Given the description of an element on the screen output the (x, y) to click on. 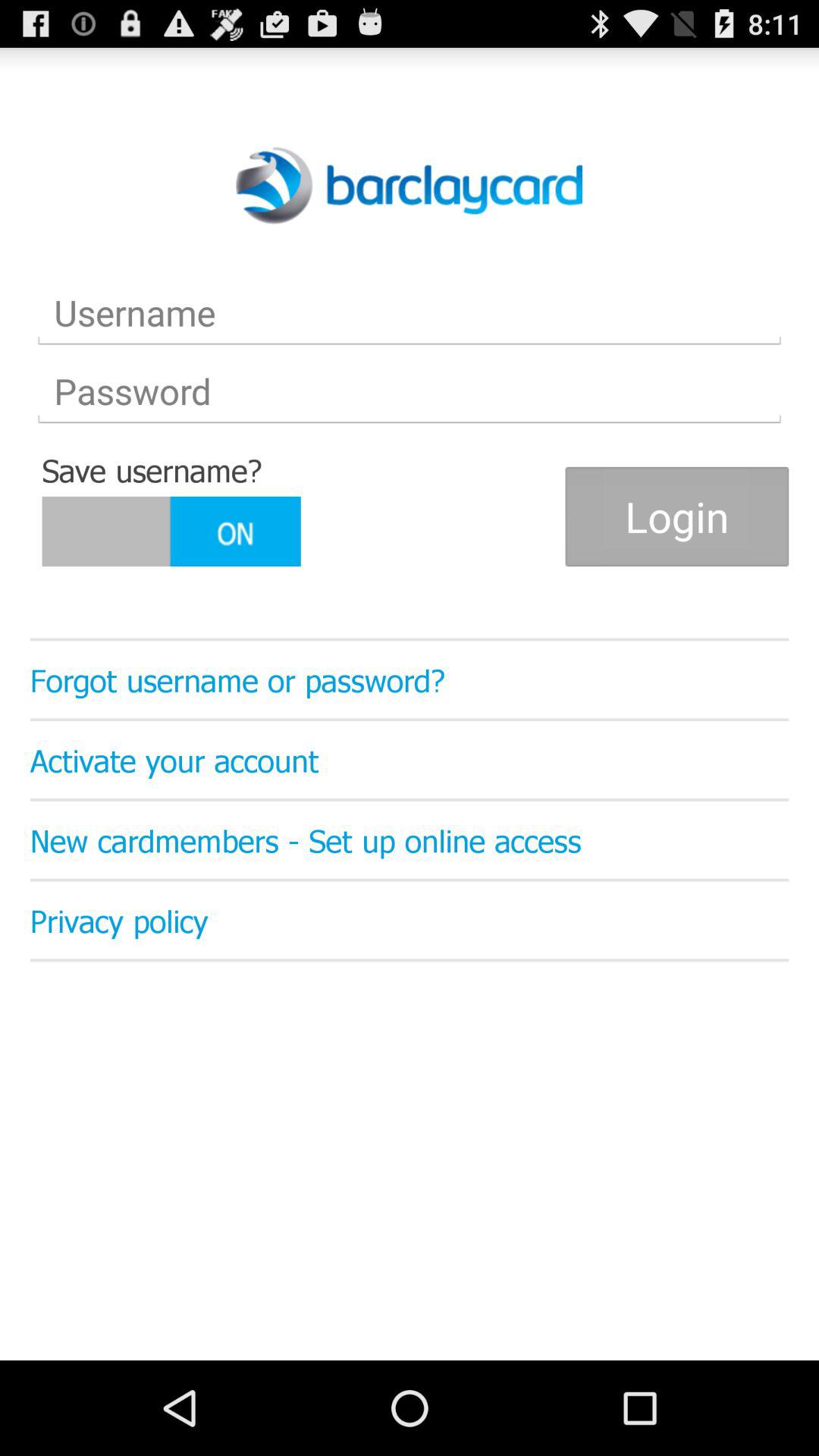
jump until the forgot username or (409, 679)
